Given the description of an element on the screen output the (x, y) to click on. 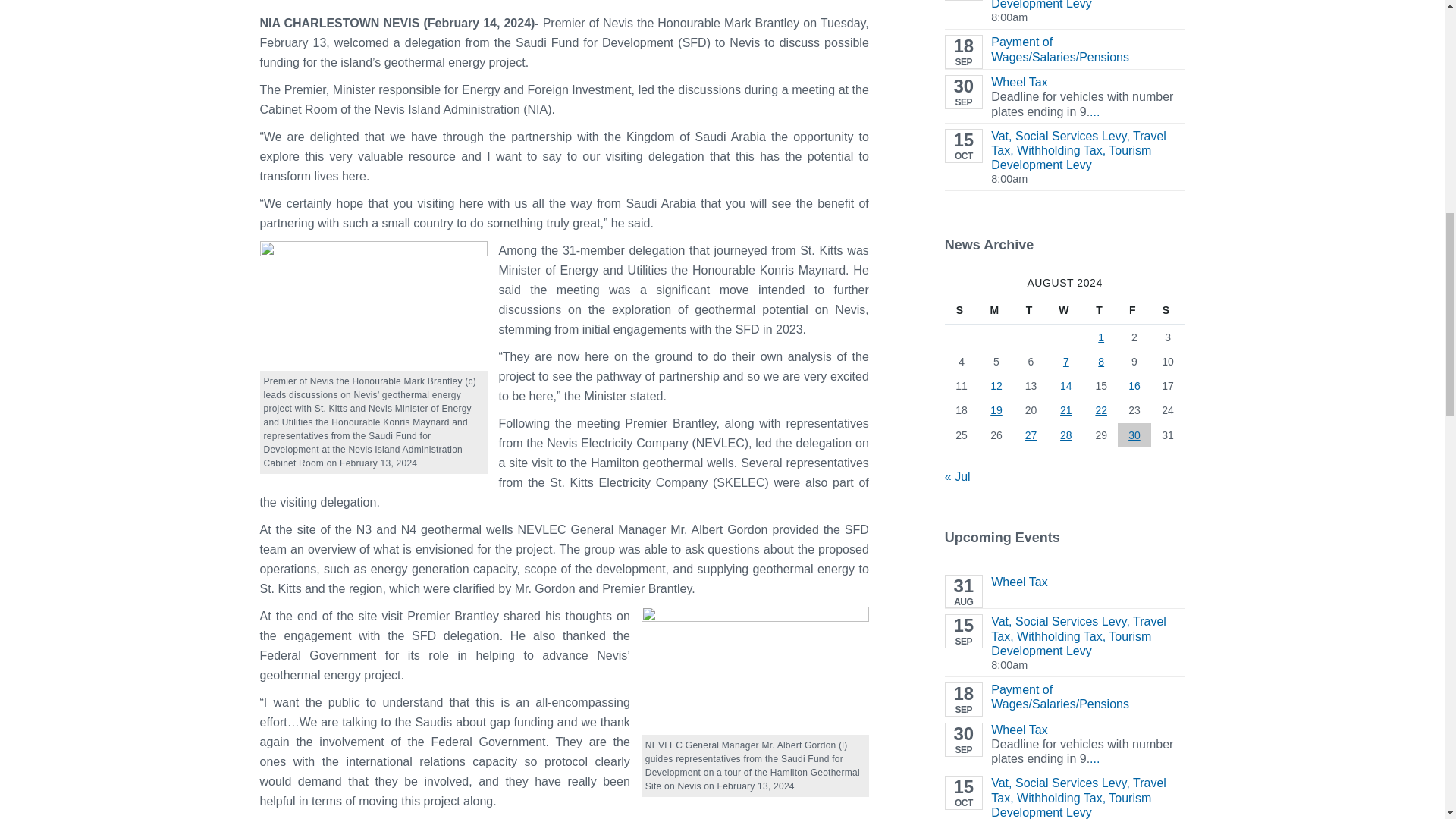
Saturday (1168, 310)
Tuesday (1031, 310)
Monday (995, 310)
Sunday (961, 310)
Thursday (1101, 310)
Friday (1134, 310)
Wednesday (1065, 310)
